Given the description of an element on the screen output the (x, y) to click on. 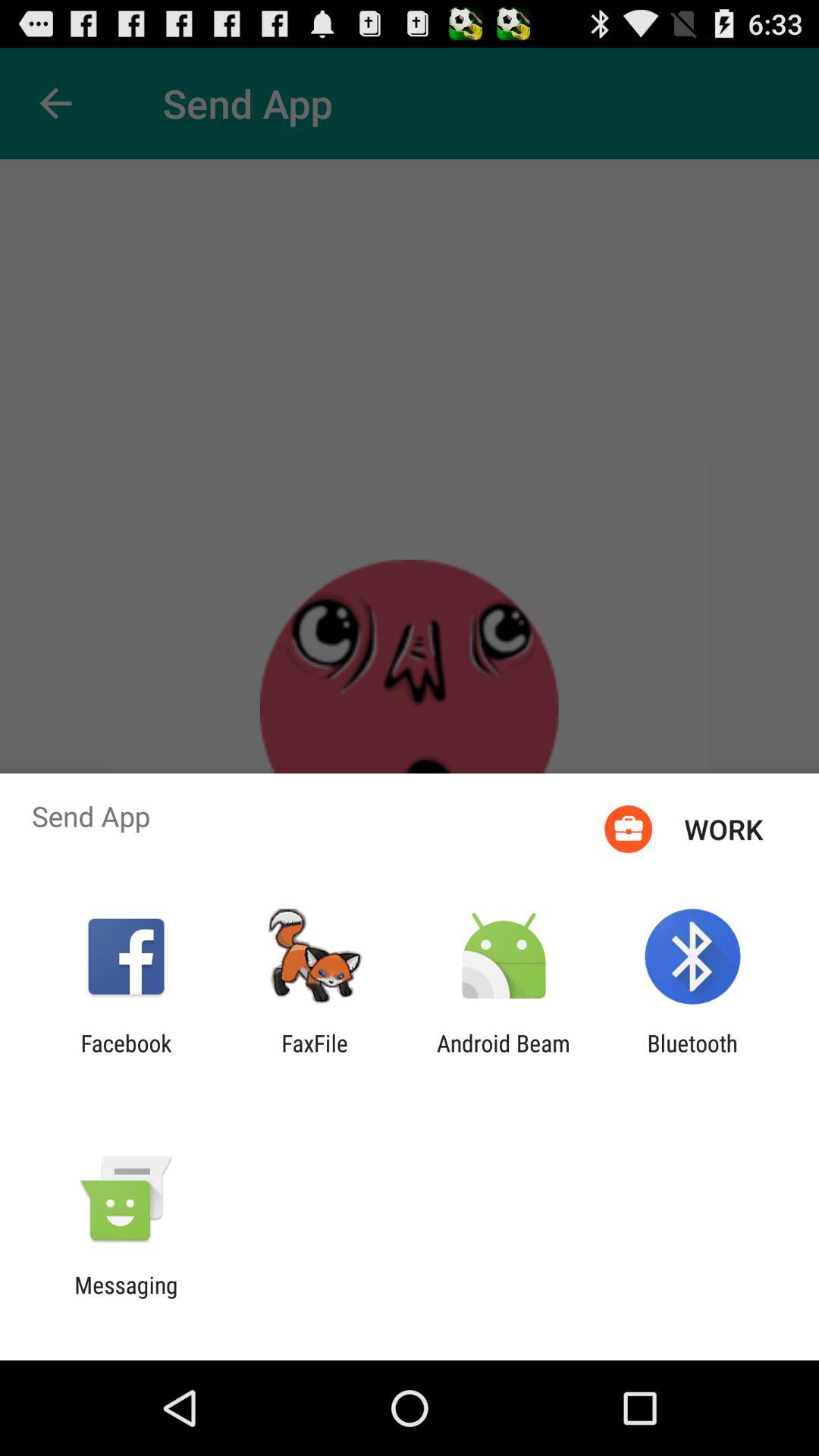
click the item next to facebook icon (314, 1056)
